Given the description of an element on the screen output the (x, y) to click on. 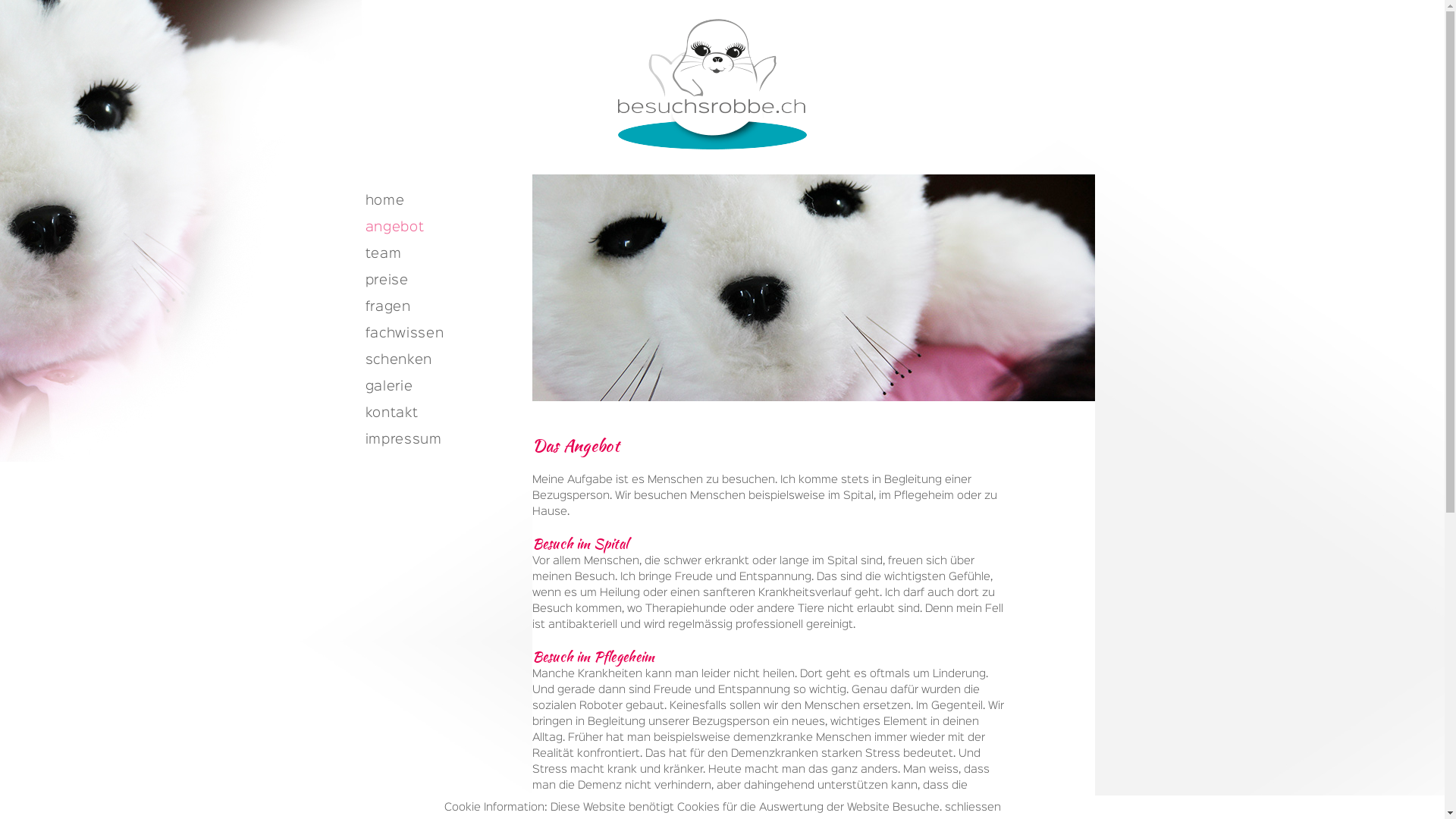
home Element type: text (443, 202)
fachwissen Element type: text (443, 335)
fragen Element type: text (443, 308)
angebot Element type: text (443, 229)
impressum Element type: text (443, 441)
galerie Element type: text (443, 388)
schenken Element type: text (443, 361)
kontakt Element type: text (443, 414)
team Element type: text (443, 255)
preise Element type: text (443, 282)
